Given the description of an element on the screen output the (x, y) to click on. 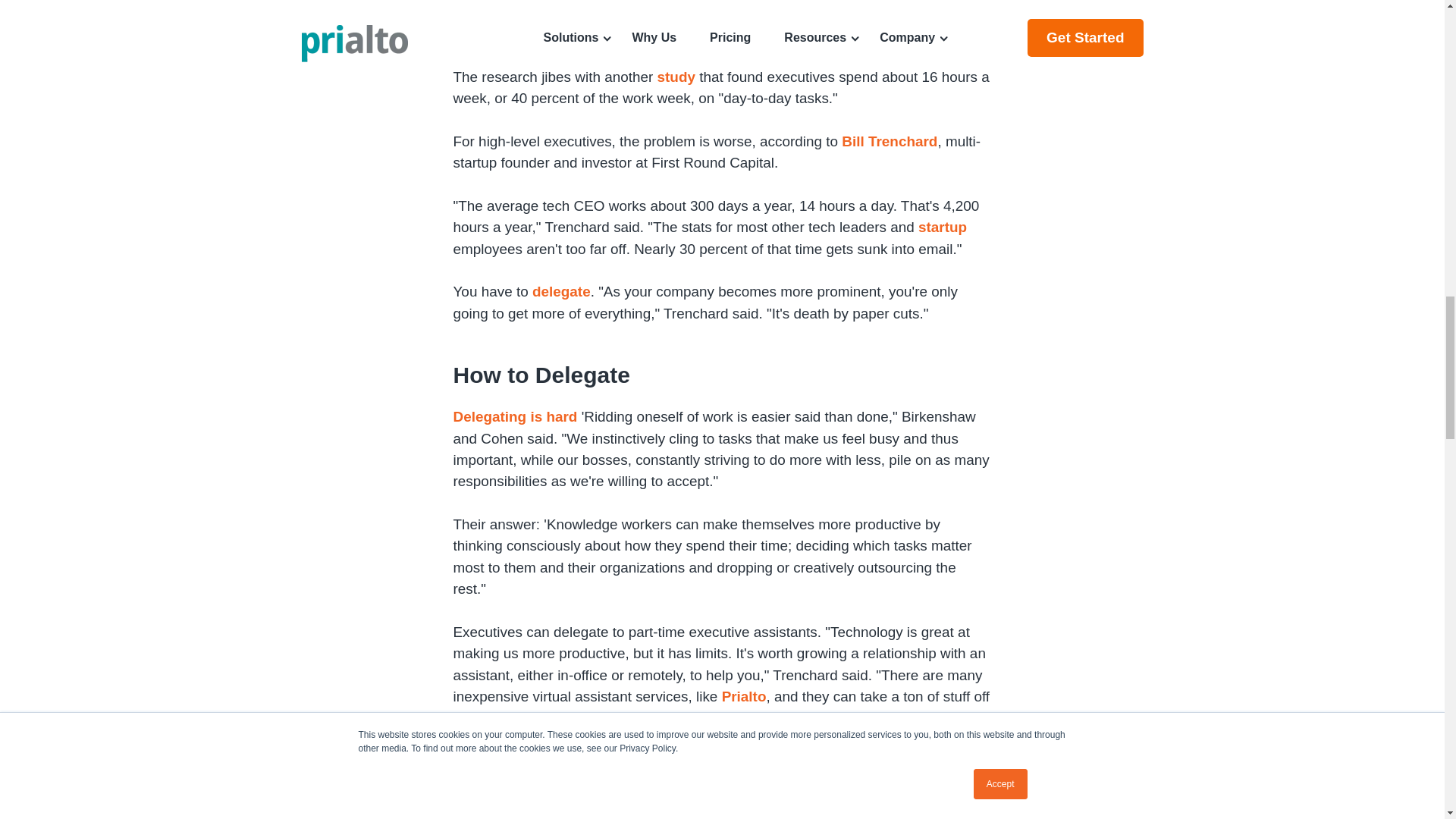
startup (942, 227)
study (676, 76)
Bill Trenchard (889, 141)
Delegating is hard (515, 416)
delegate (561, 291)
Prialto (744, 696)
